Given the description of an element on the screen output the (x, y) to click on. 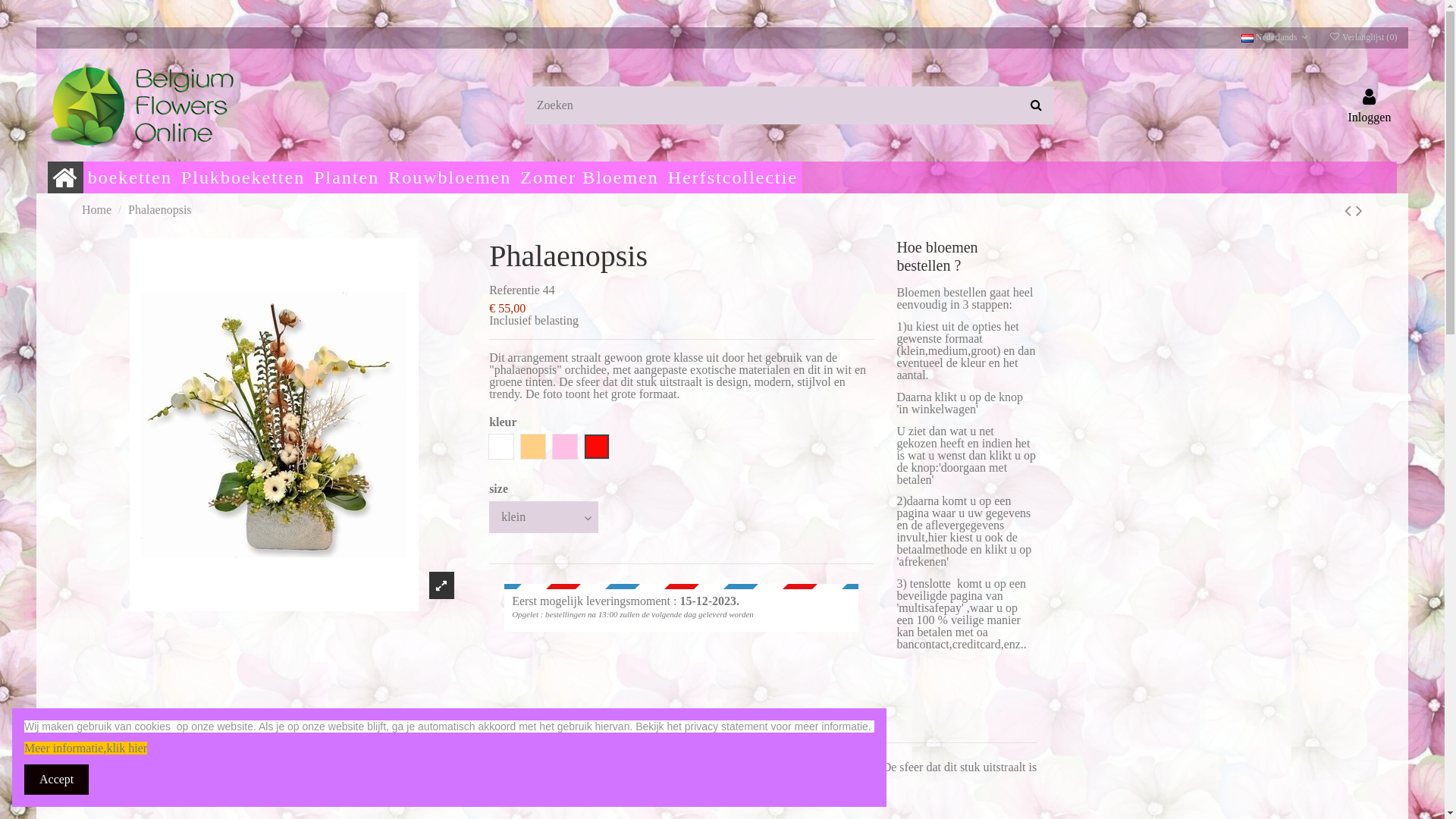
Reviews
(0) Element type: text (314, 733)
Previous product Element type: hover (1349, 210)
Nederlands Element type: text (1276, 36)
Accept Element type: text (56, 779)
Meer informatie,klik hier Element type: text (85, 747)
Plukboeketten Element type: text (242, 177)
Inloggen Element type: text (1369, 105)
Home Element type: text (96, 209)
Next product Element type: hover (1358, 210)
boeketten Element type: text (129, 177)
Rouwbloemen Element type: text (449, 177)
Omschrijving Element type: text (121, 733)
  Element type: text (82, 716)
Herfstcollectie Element type: text (732, 177)
Zomer Bloemen Element type: text (589, 177)
Productdetails Element type: text (221, 733)
Planten Element type: text (346, 177)
Verlanglijst (0) Element type: text (1362, 36)
